Given the description of an element on the screen output the (x, y) to click on. 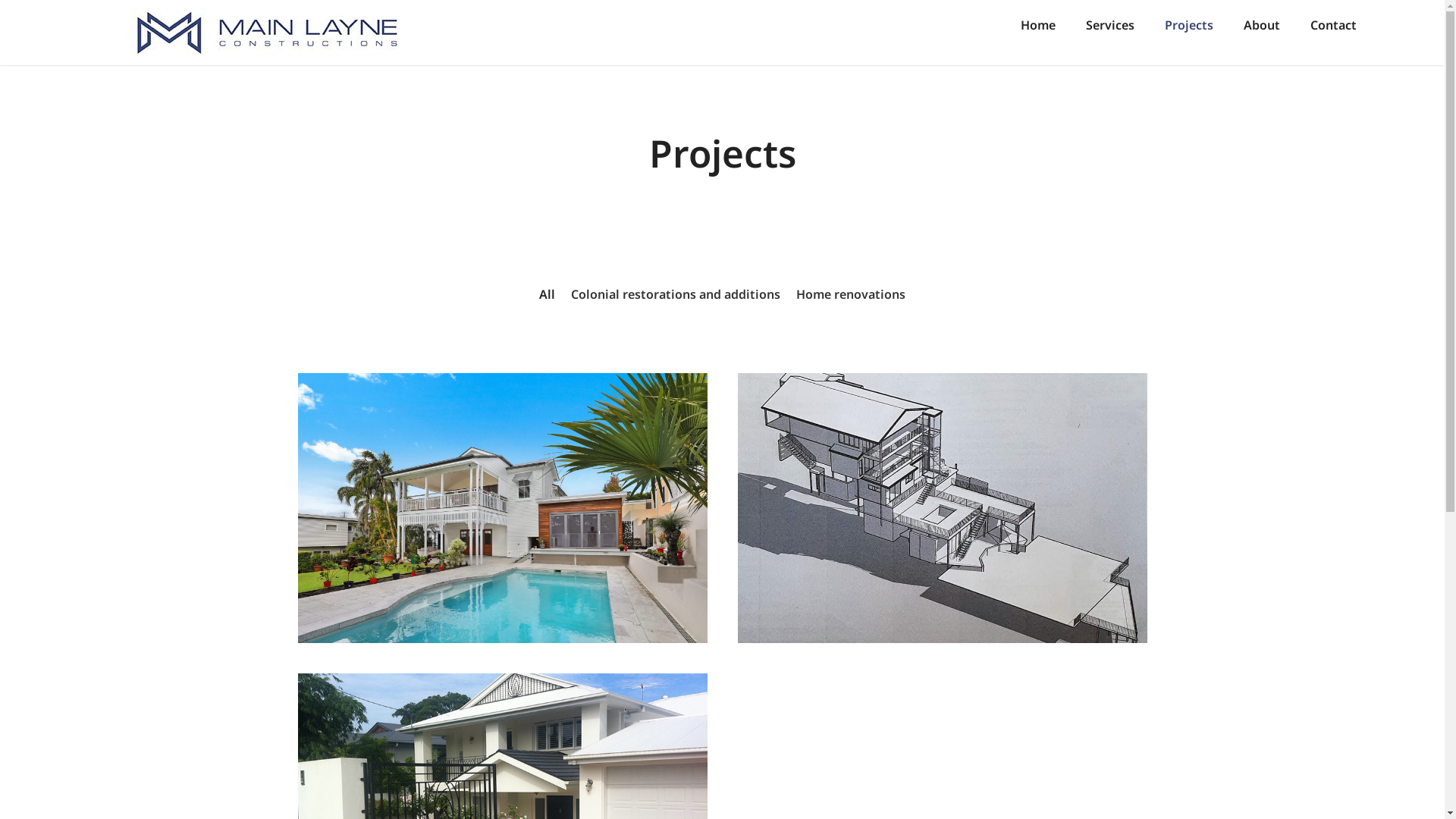
Contact Element type: text (1333, 24)
About Element type: text (1261, 24)
Services Element type: text (1109, 24)
Projects Element type: text (1188, 24)
Home Element type: text (1037, 24)
